Given the description of an element on the screen output the (x, y) to click on. 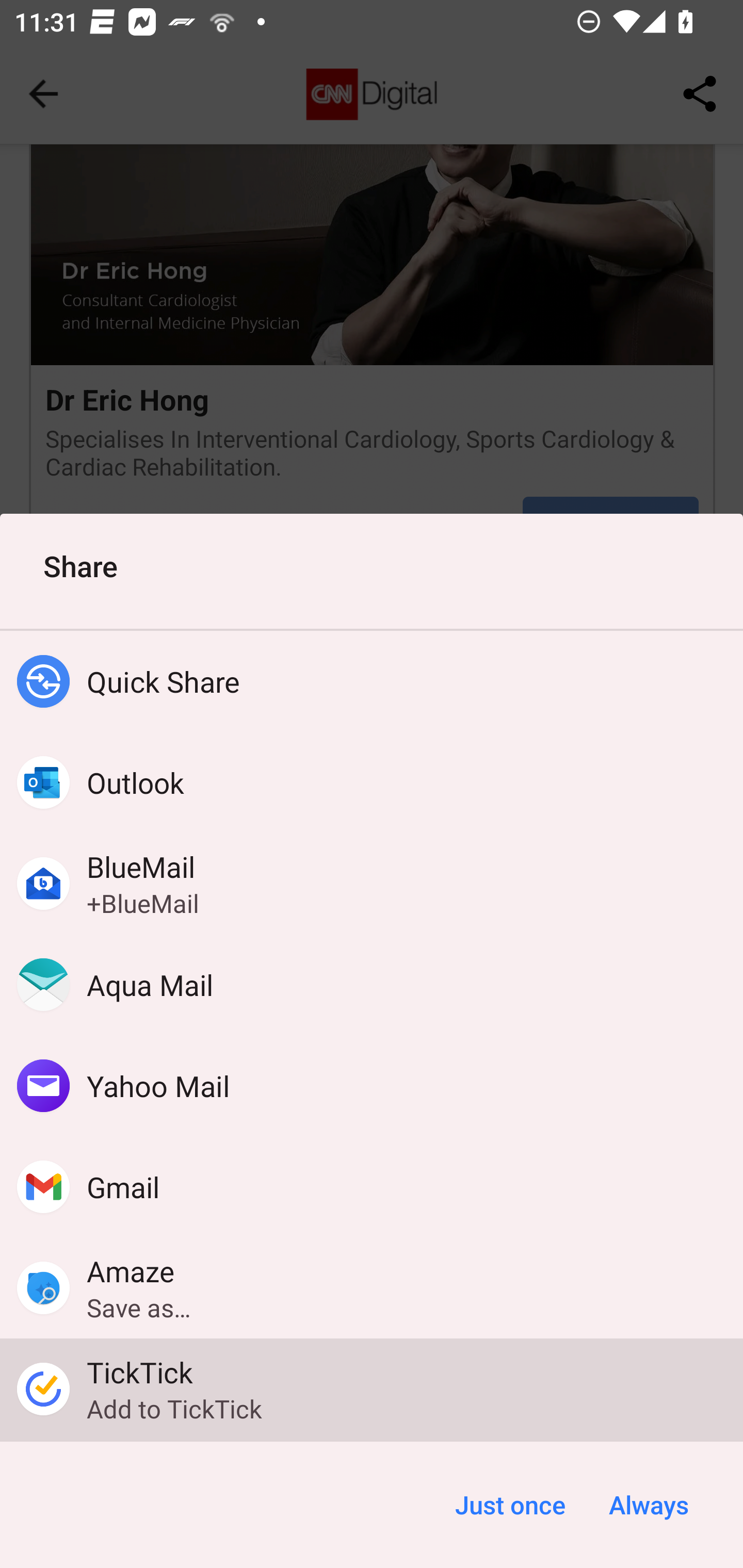
Quick Share (371, 681)
Outlook (371, 782)
BlueMail +BlueMail (371, 883)
Aqua Mail (371, 984)
Yahoo Mail (371, 1085)
Gmail (371, 1186)
Amaze Save as… (371, 1288)
TickTick Add to TickTick (371, 1389)
Just once (509, 1504)
Always (648, 1504)
